Given the description of an element on the screen output the (x, y) to click on. 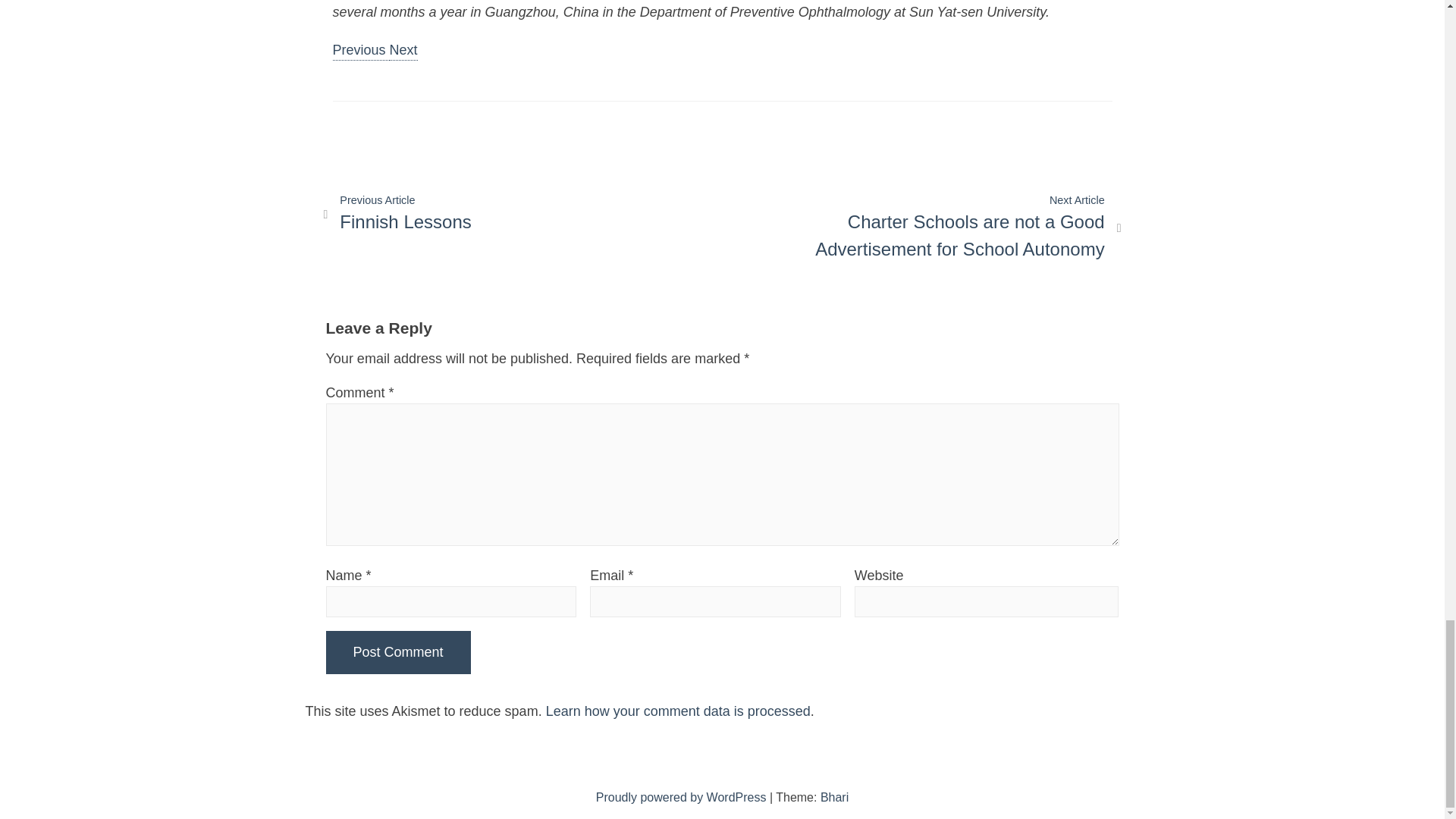
The View from Shanghai (359, 51)
Learn how your comment data is processed (678, 711)
Previous (359, 51)
Post Comment (398, 652)
Next (403, 51)
Proudly powered by WordPress (396, 214)
Chaplaincy Program Pushes Against Secular Public Education (682, 797)
Post Comment (403, 51)
Bhari (398, 652)
